Given the description of an element on the screen output the (x, y) to click on. 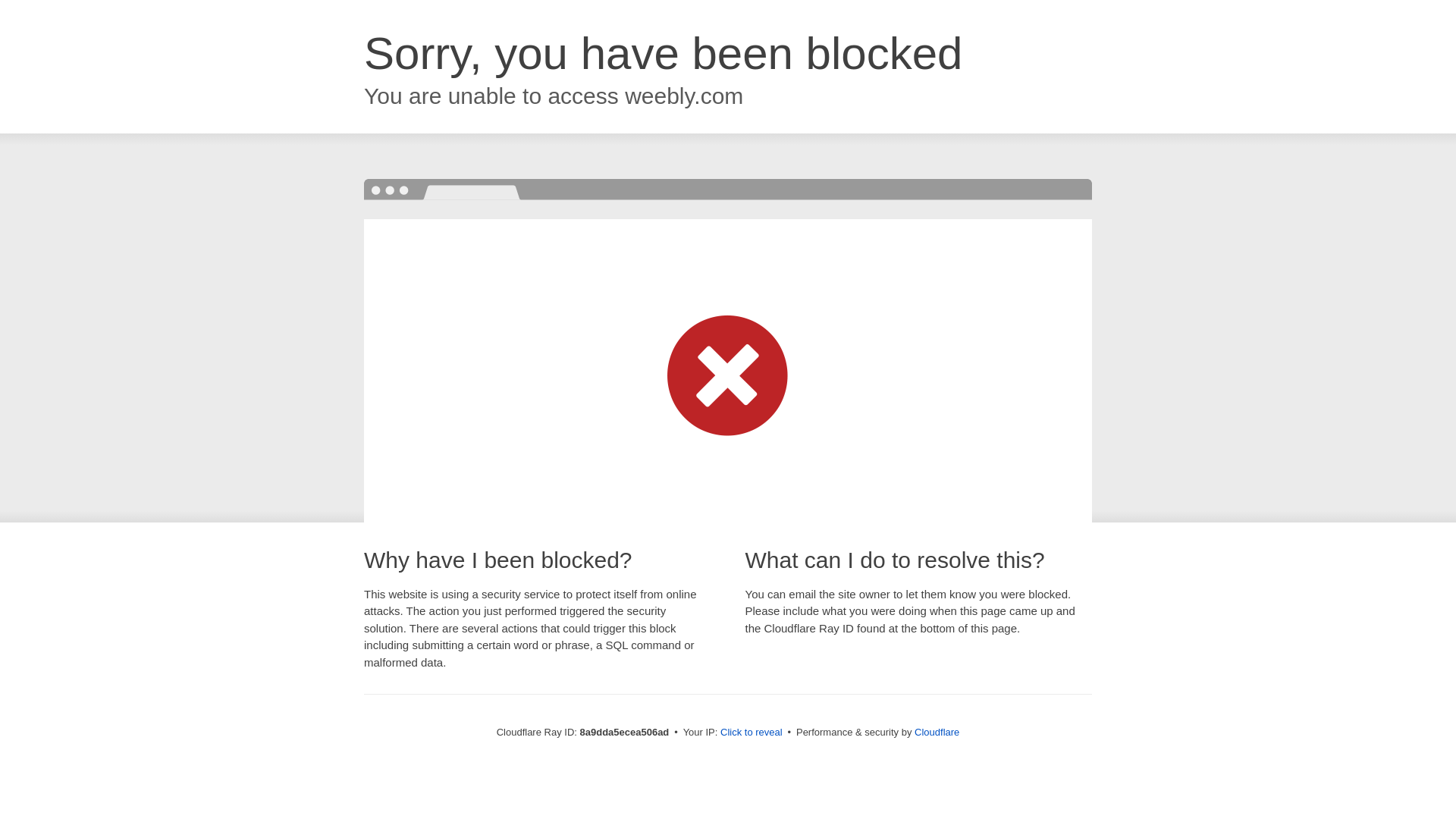
Cloudflare (936, 731)
Click to reveal (751, 732)
